Given the description of an element on the screen output the (x, y) to click on. 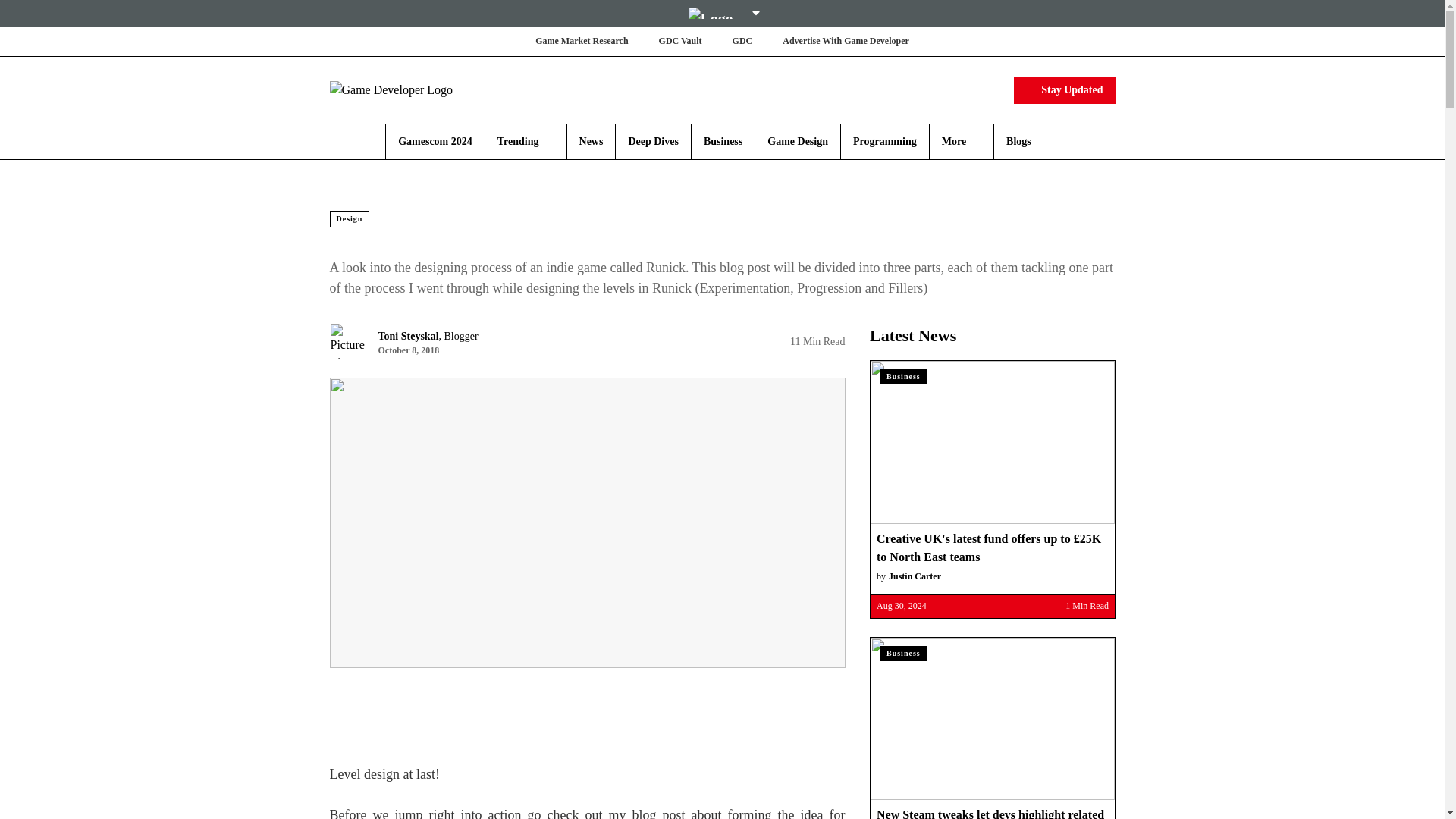
Game Design (797, 141)
GDC (742, 41)
Business (722, 141)
Gamescom 2024 (434, 141)
Game Developer Logo (419, 90)
Programming (885, 141)
News (591, 141)
Advertise With Game Developer (845, 41)
GDC Vault (680, 41)
Stay Updated (1064, 89)
